Given the description of an element on the screen output the (x, y) to click on. 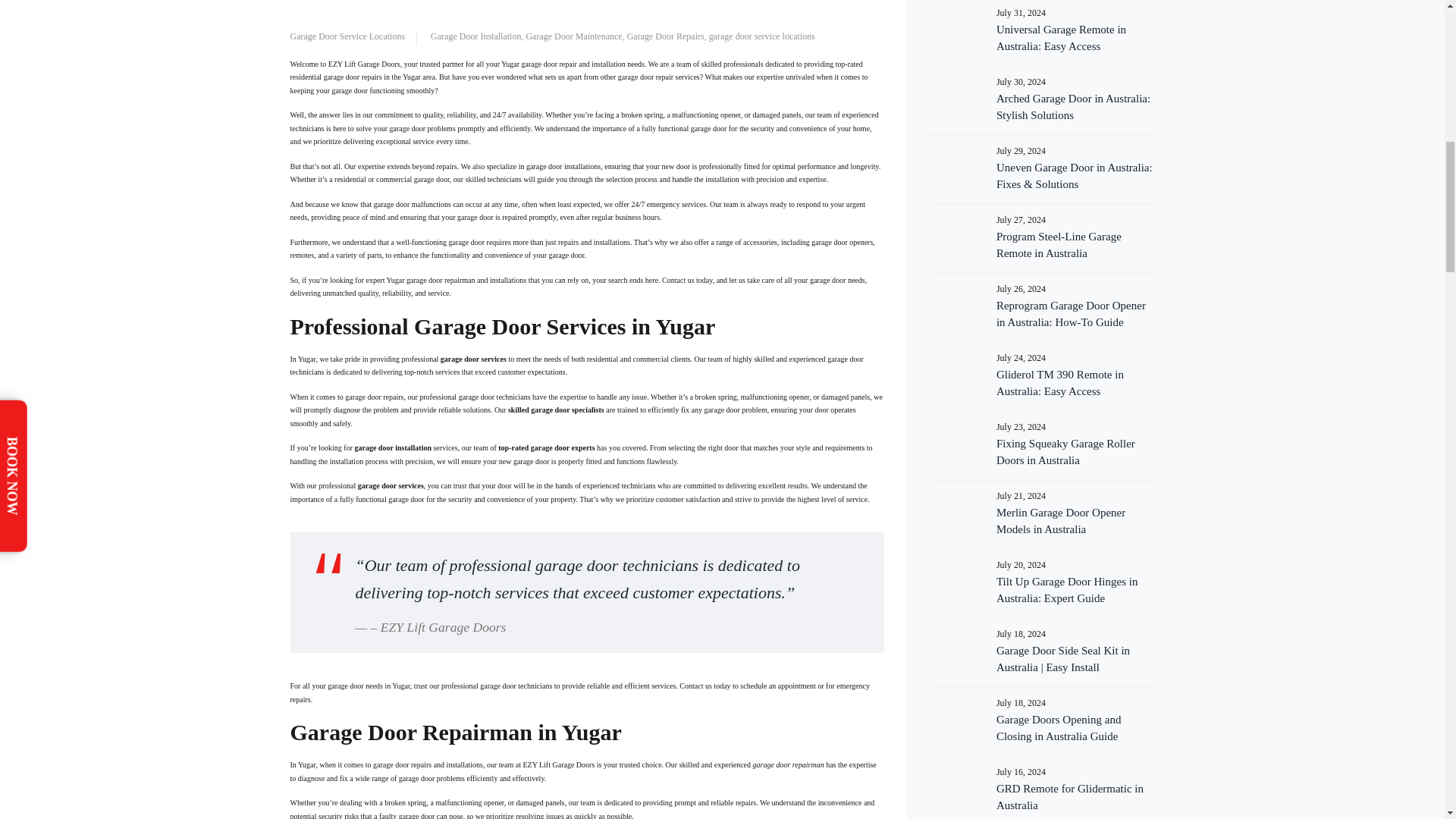
Garage Door Maintenance (573, 36)
EZY Lift Garage Doors (443, 626)
Garage Door Installation (475, 36)
Garage Door Repairs (665, 36)
Garage Door Service Locations (346, 36)
garage door openers (841, 242)
garage door service locations (762, 36)
garage door services (473, 358)
garage door openers (841, 242)
garage door services (473, 358)
